Given the description of an element on the screen output the (x, y) to click on. 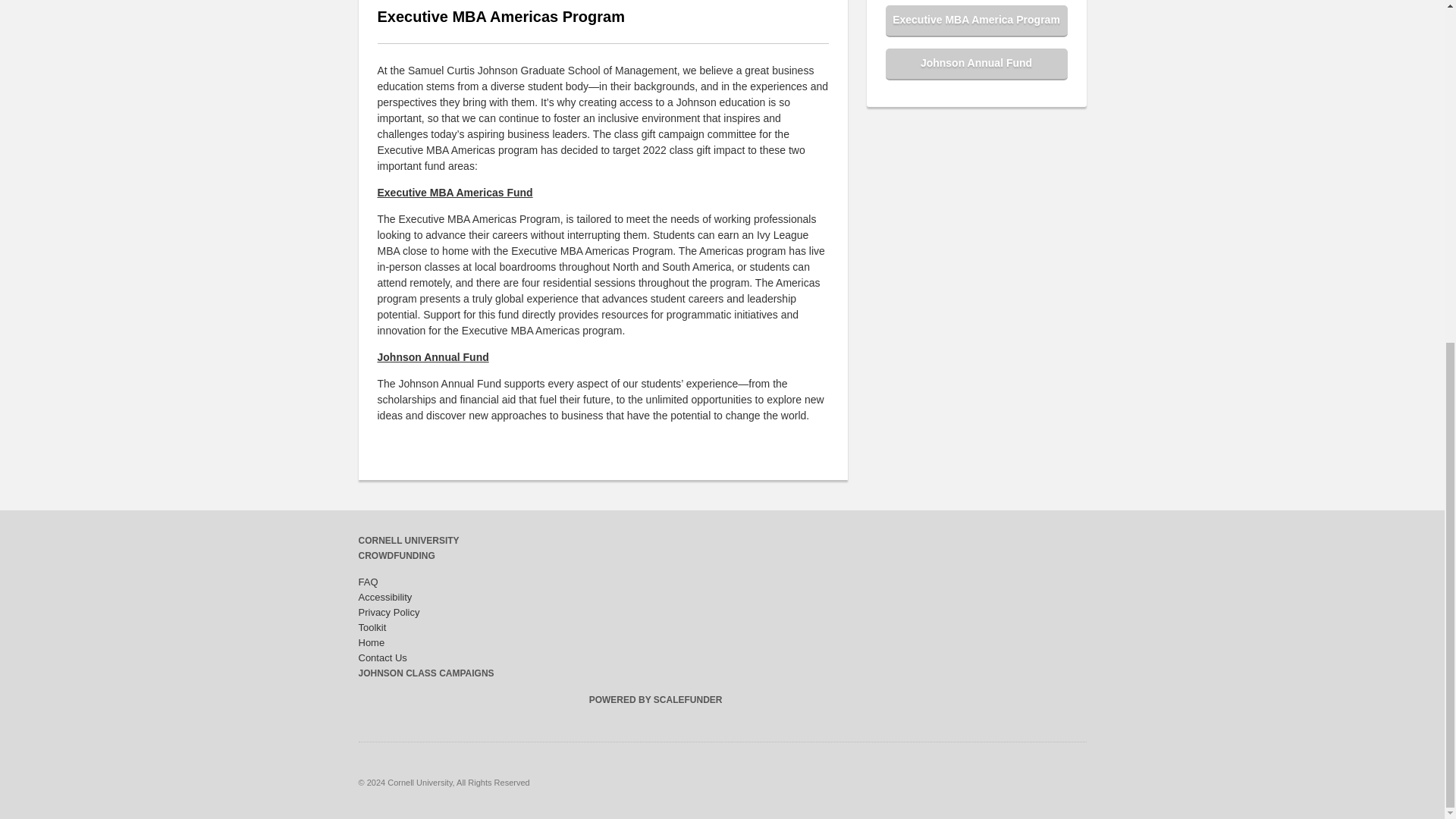
Toolkit (371, 627)
Executive MBA America Program (976, 20)
CORNELL UNIVERSITY CROWDFUNDING (408, 548)
Contact Us (382, 657)
JOHNSON CLASS CAMPAIGNS (425, 673)
Johnson Annual Fund (976, 64)
Privacy Policy (388, 612)
Accessibility (385, 596)
Home (371, 642)
FAQ (367, 582)
POWERED BY SCALEFUNDER (655, 699)
